Given the description of an element on the screen output the (x, y) to click on. 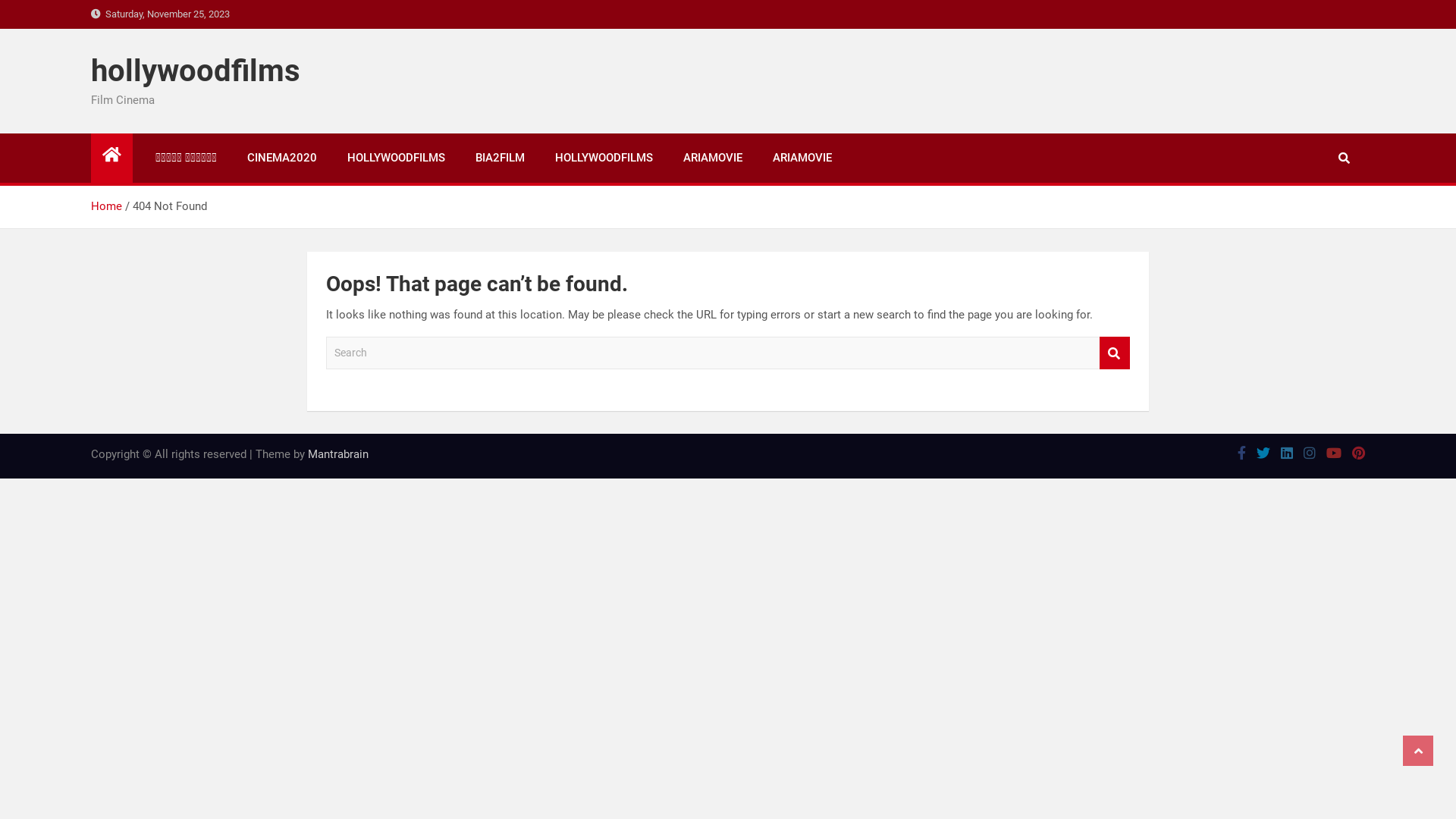
BIA2FILM Element type: text (499, 158)
CINEMA2020 Element type: text (282, 158)
HOLLYWOODFILMS Element type: text (396, 158)
ARIAMOVIE Element type: text (802, 158)
Home Element type: text (106, 206)
Search Element type: text (1114, 352)
Skip to content Element type: text (0, 0)
ARIAMOVIE Element type: text (712, 158)
Mantrabrain Element type: text (337, 454)
hollywoodfilms Element type: text (195, 70)
HOLLYWOODFILMS Element type: text (603, 158)
Go to Top Element type: hover (1417, 750)
